Given the description of an element on the screen output the (x, y) to click on. 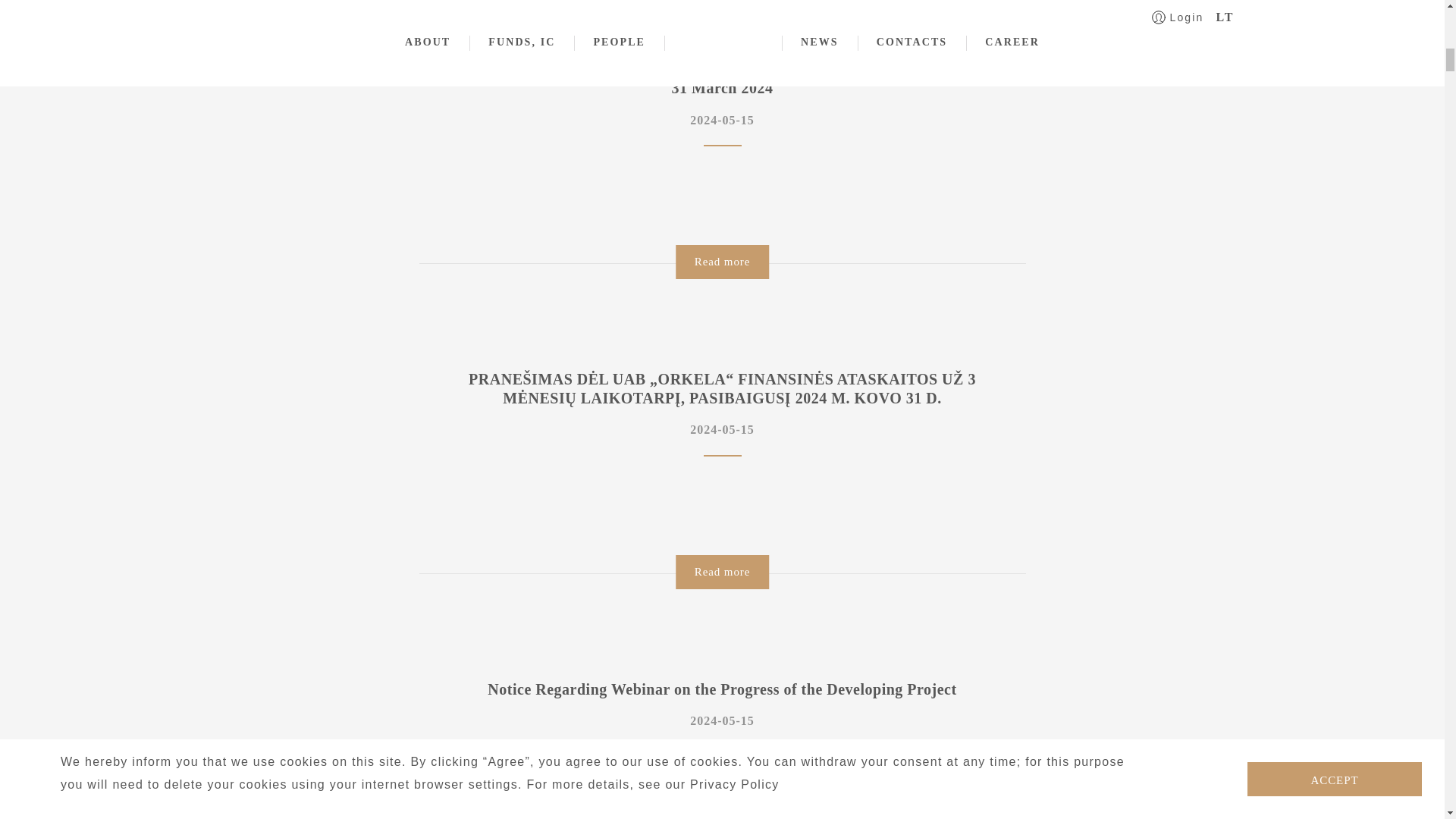
Read more (722, 571)
Read more (722, 261)
